Given the description of an element on the screen output the (x, y) to click on. 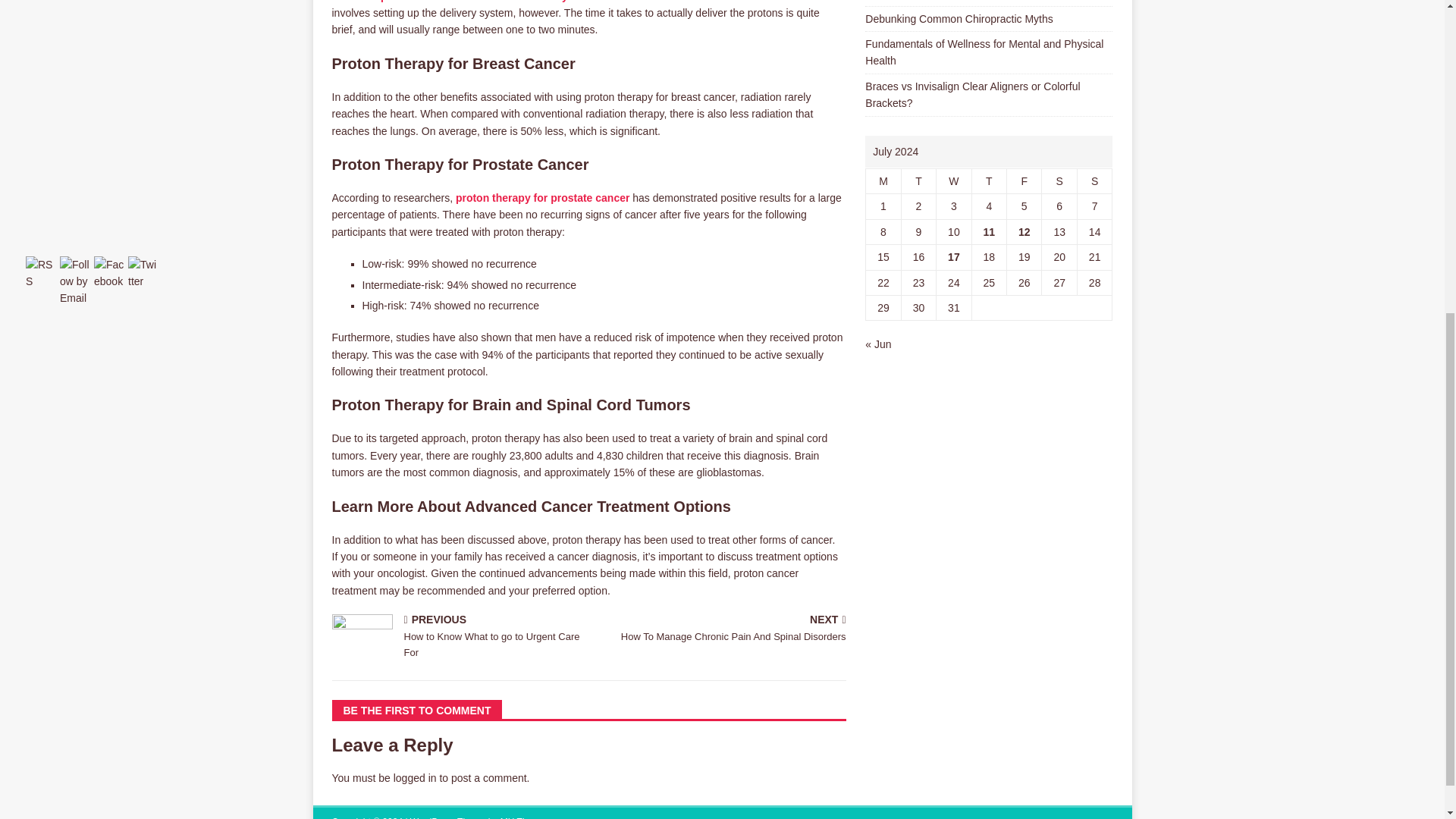
Saturday (1059, 180)
12 (1023, 232)
Cool things (542, 197)
Braces vs Invisalign Clear Aligners or Colorful Brackets? (972, 94)
Sunday (1094, 180)
Thursday (988, 180)
Tuesday (918, 180)
Fundamentals of Wellness for Mental and Physical Health (983, 51)
Monday (457, 637)
Friday (883, 180)
logged in (1024, 180)
17 (414, 777)
